Given the description of an element on the screen output the (x, y) to click on. 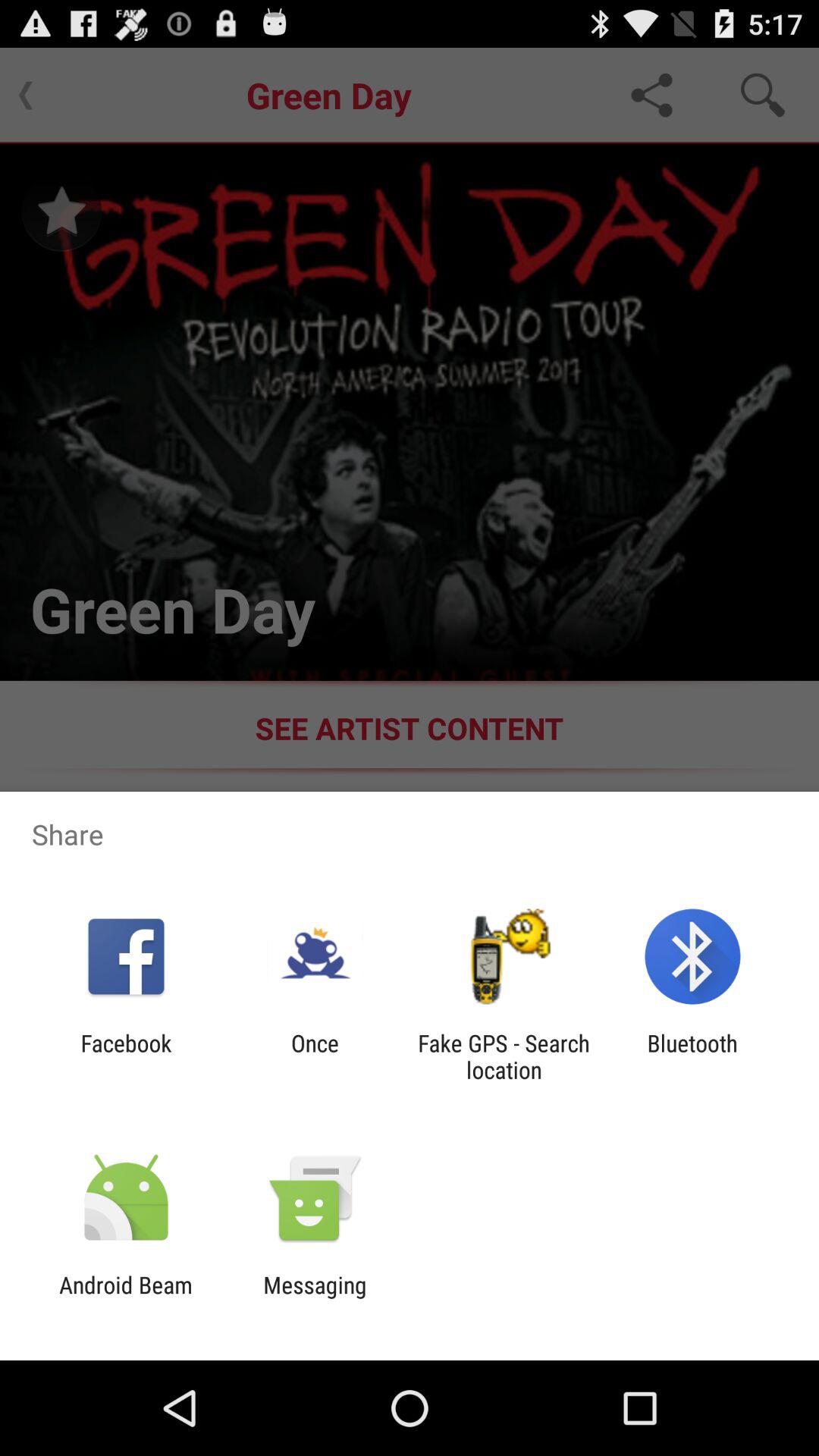
tap item next to android beam app (314, 1298)
